Given the description of an element on the screen output the (x, y) to click on. 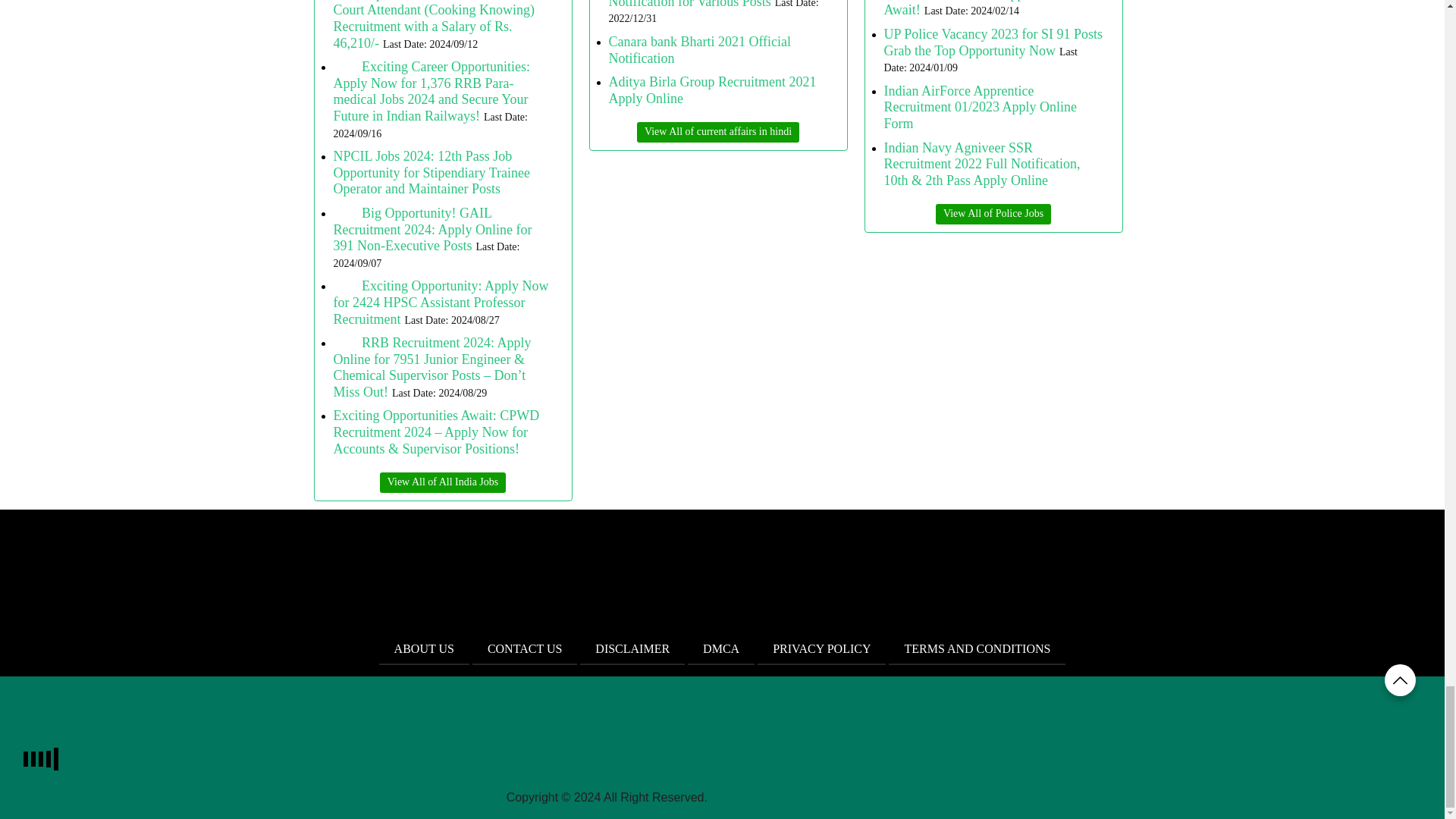
DMCA.com Protection Status (822, 797)
Category Name (993, 213)
Category Name (443, 482)
Category Name (718, 132)
